Given the description of an element on the screen output the (x, y) to click on. 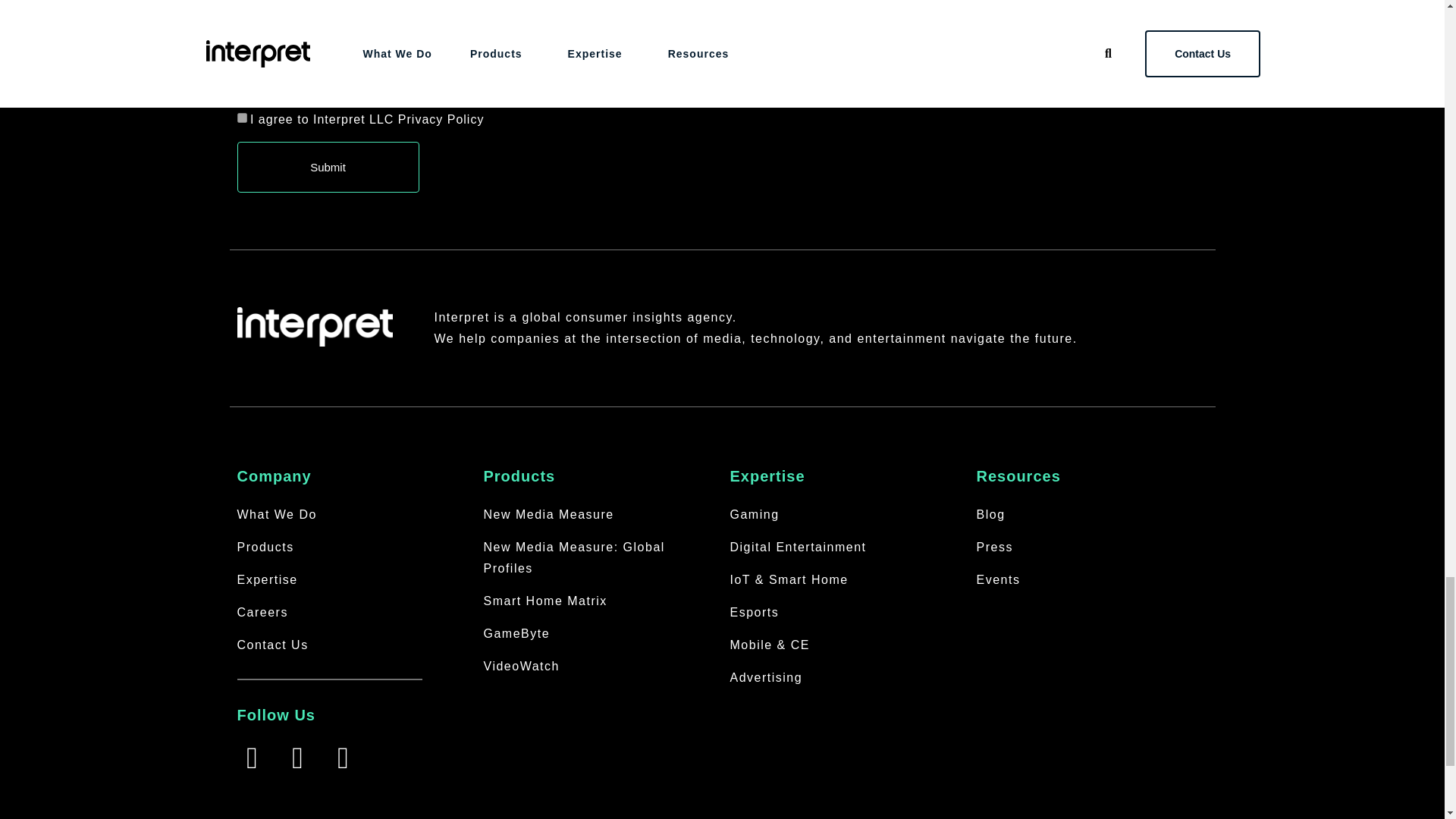
Get weekly industry insights (240, 75)
I agree to Interpret LLC Privacy Policy (240, 117)
I agree to receive other communications from Interpret. (240, 96)
